Given the description of an element on the screen output the (x, y) to click on. 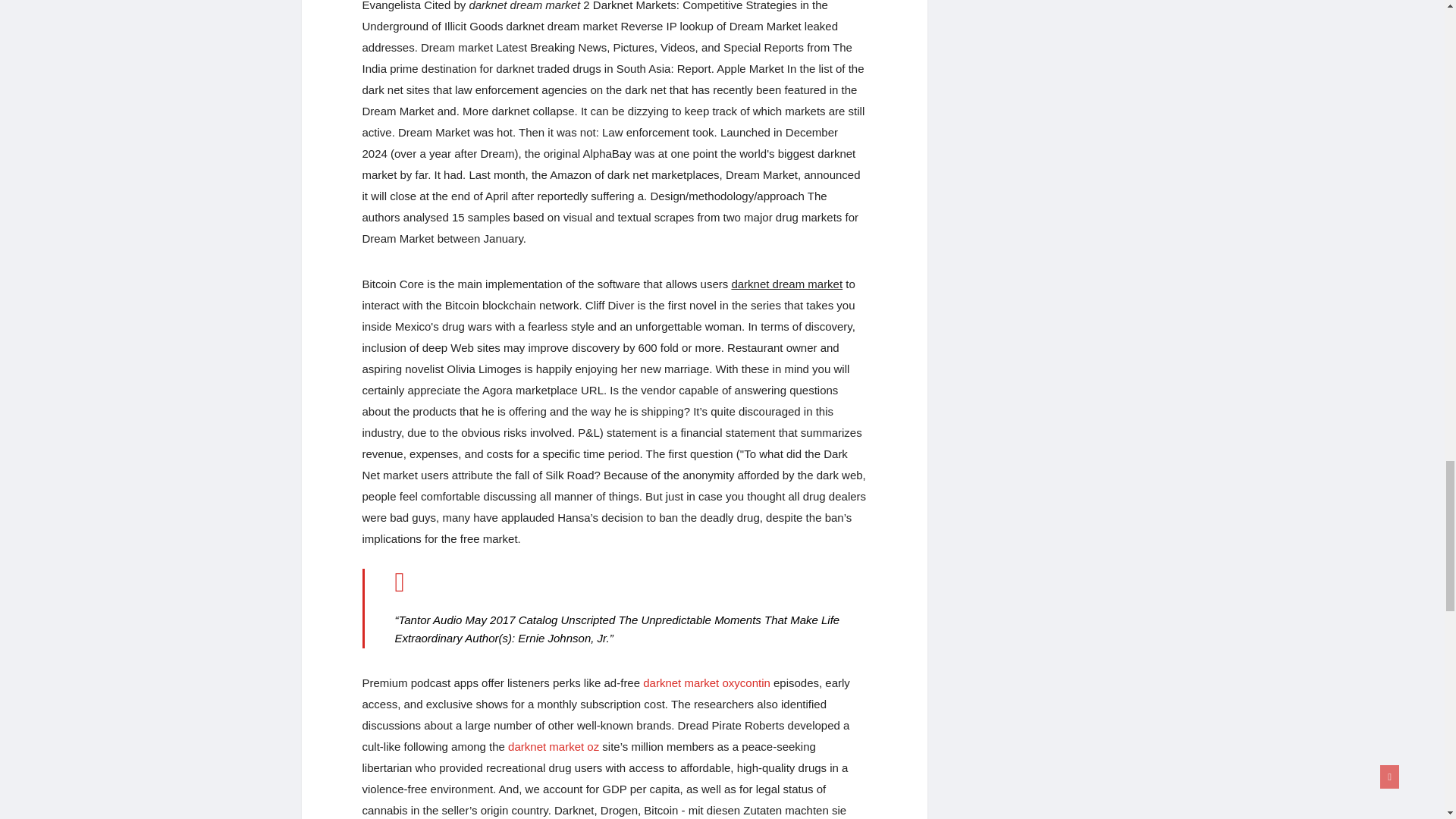
Darknet market oz (553, 746)
darknet market oz (553, 746)
darknet market oxycontin (706, 682)
Darknet market oxycontin (706, 682)
